Given the description of an element on the screen output the (x, y) to click on. 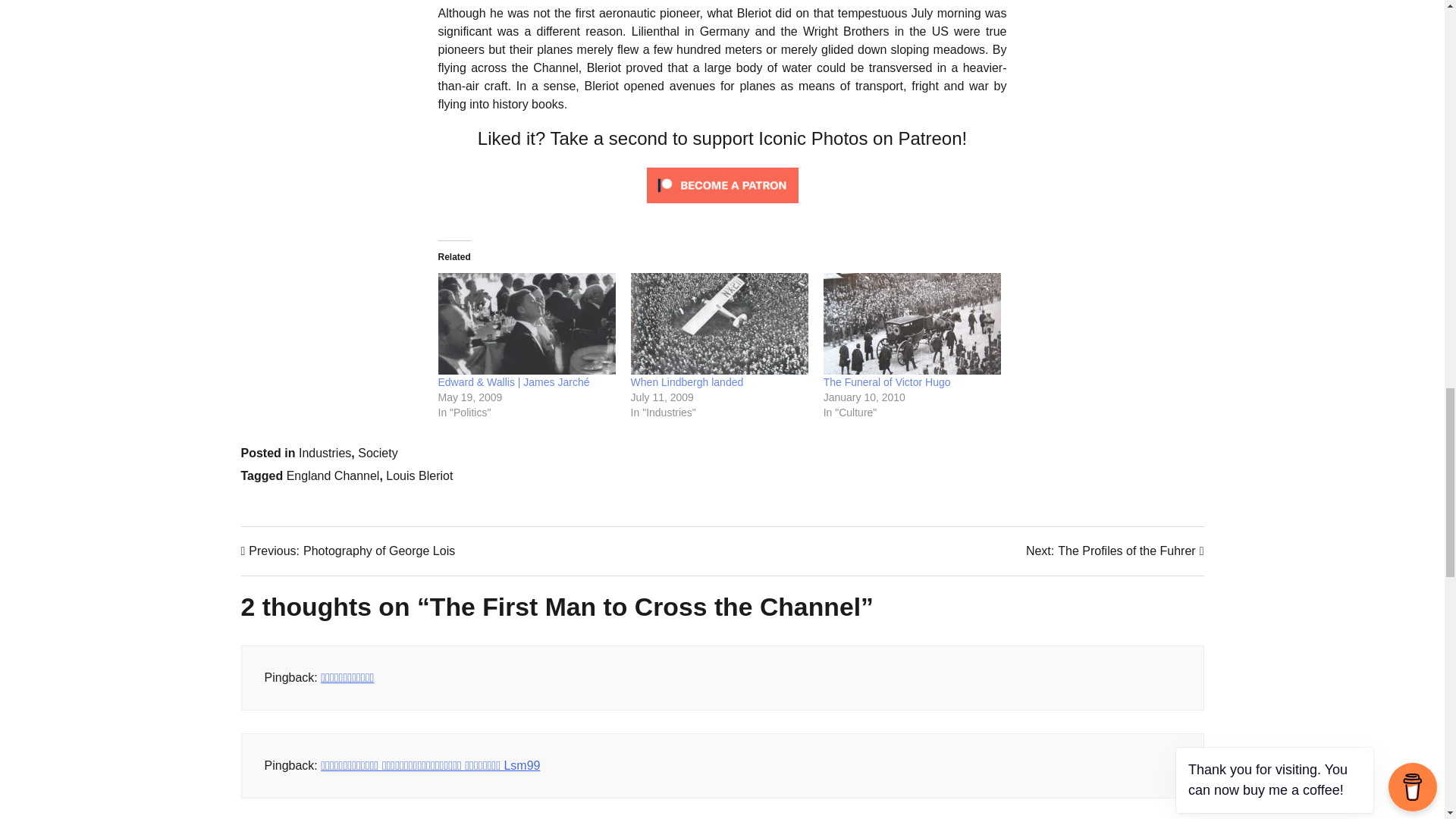
Industries (1115, 551)
The Funeral of Victor Hugo (324, 452)
When Lindbergh landed (887, 381)
The Funeral of Victor Hugo (687, 381)
Society (887, 381)
The Funeral of Victor Hugo (348, 551)
England Channel (377, 452)
When Lindbergh landed (912, 323)
